Given the description of an element on the screen output the (x, y) to click on. 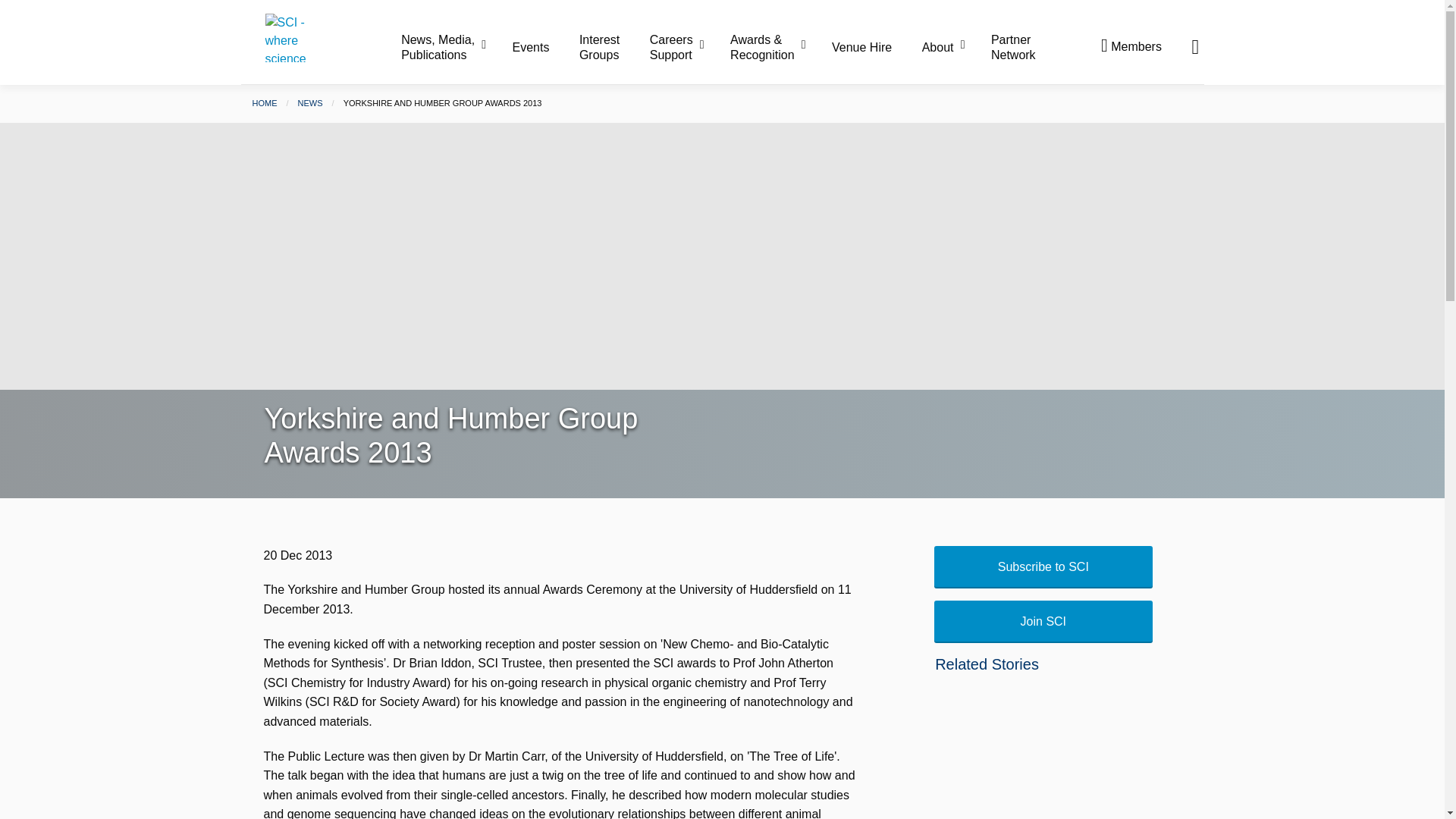
News, Media, Publications (454, 47)
About (954, 47)
Careers Support (687, 47)
Events (544, 47)
Interest Groups (612, 47)
Venue Hire (874, 47)
Partner Network (1013, 47)
